Given the description of an element on the screen output the (x, y) to click on. 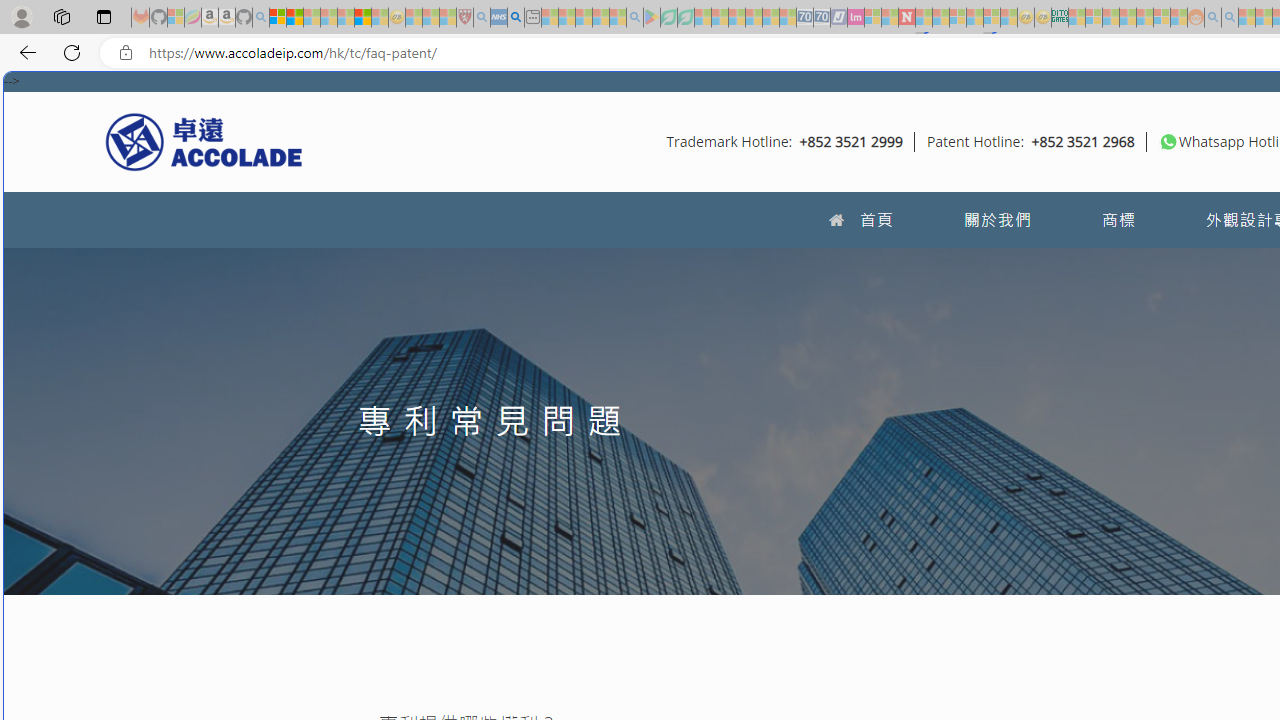
utah sues federal government - Search (515, 17)
